Given the description of an element on the screen output the (x, y) to click on. 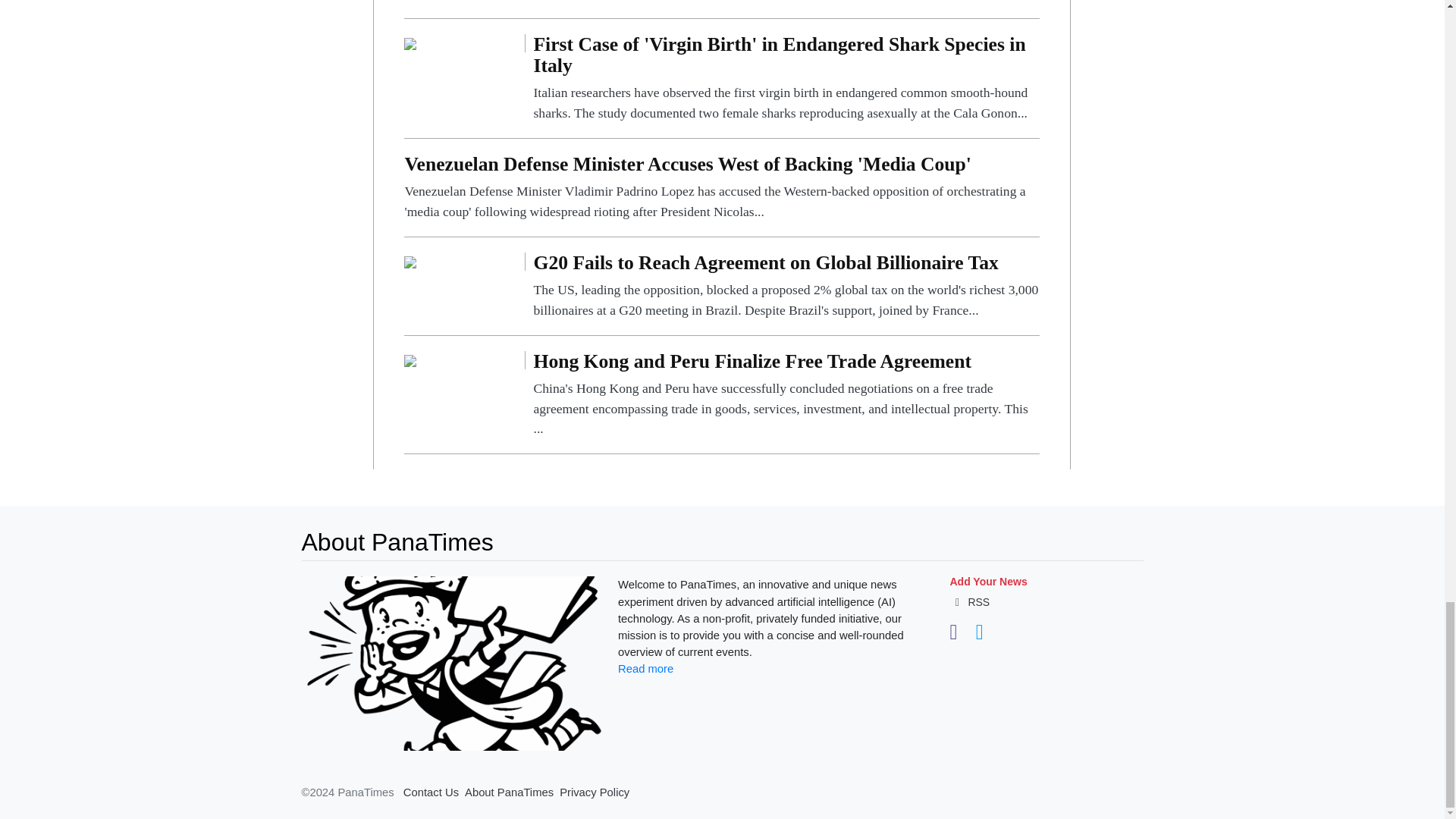
Add Your News (987, 581)
Read more (644, 668)
RSS (969, 602)
